Given the description of an element on the screen output the (x, y) to click on. 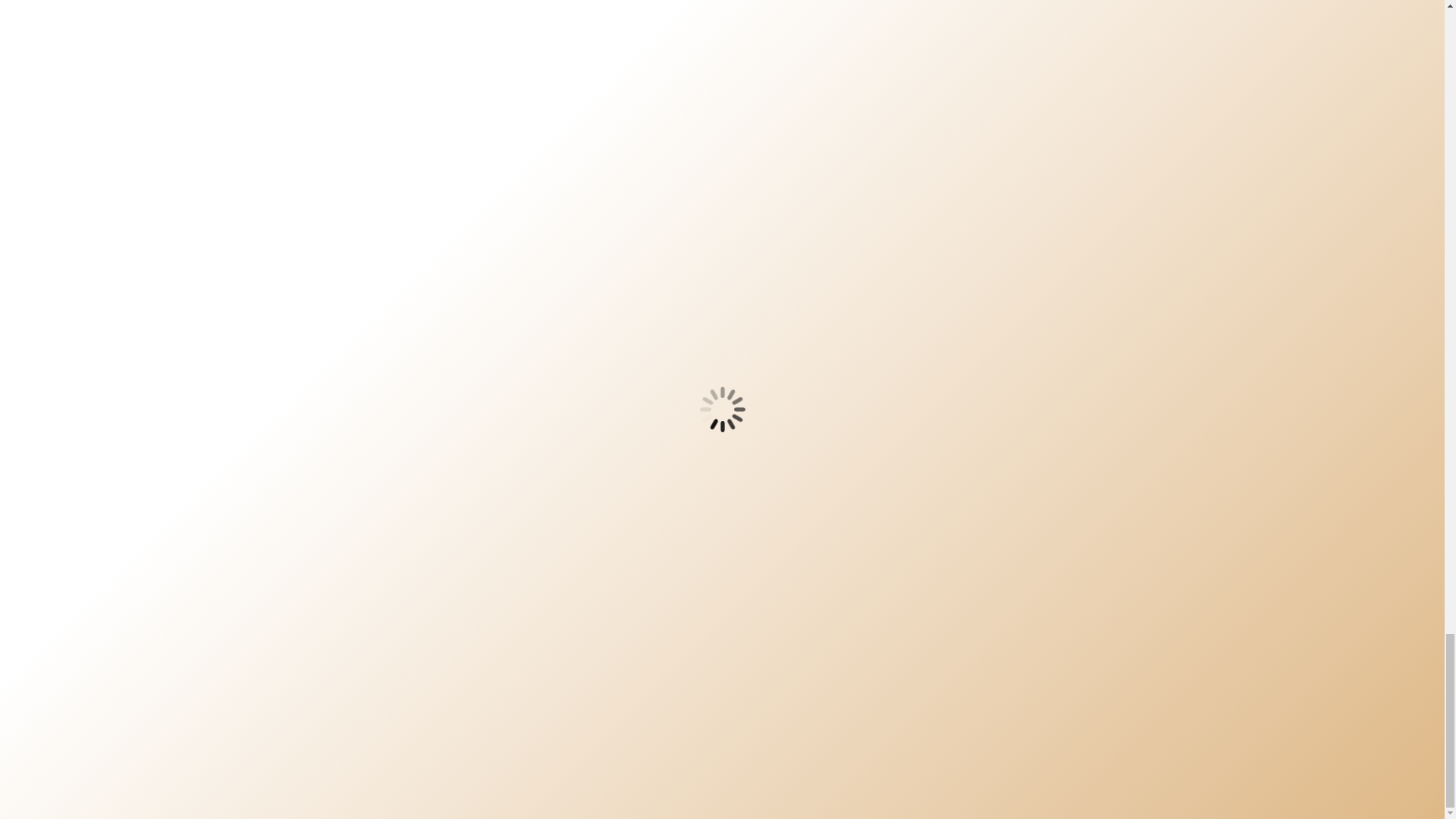
yes (283, 558)
